Given the description of an element on the screen output the (x, y) to click on. 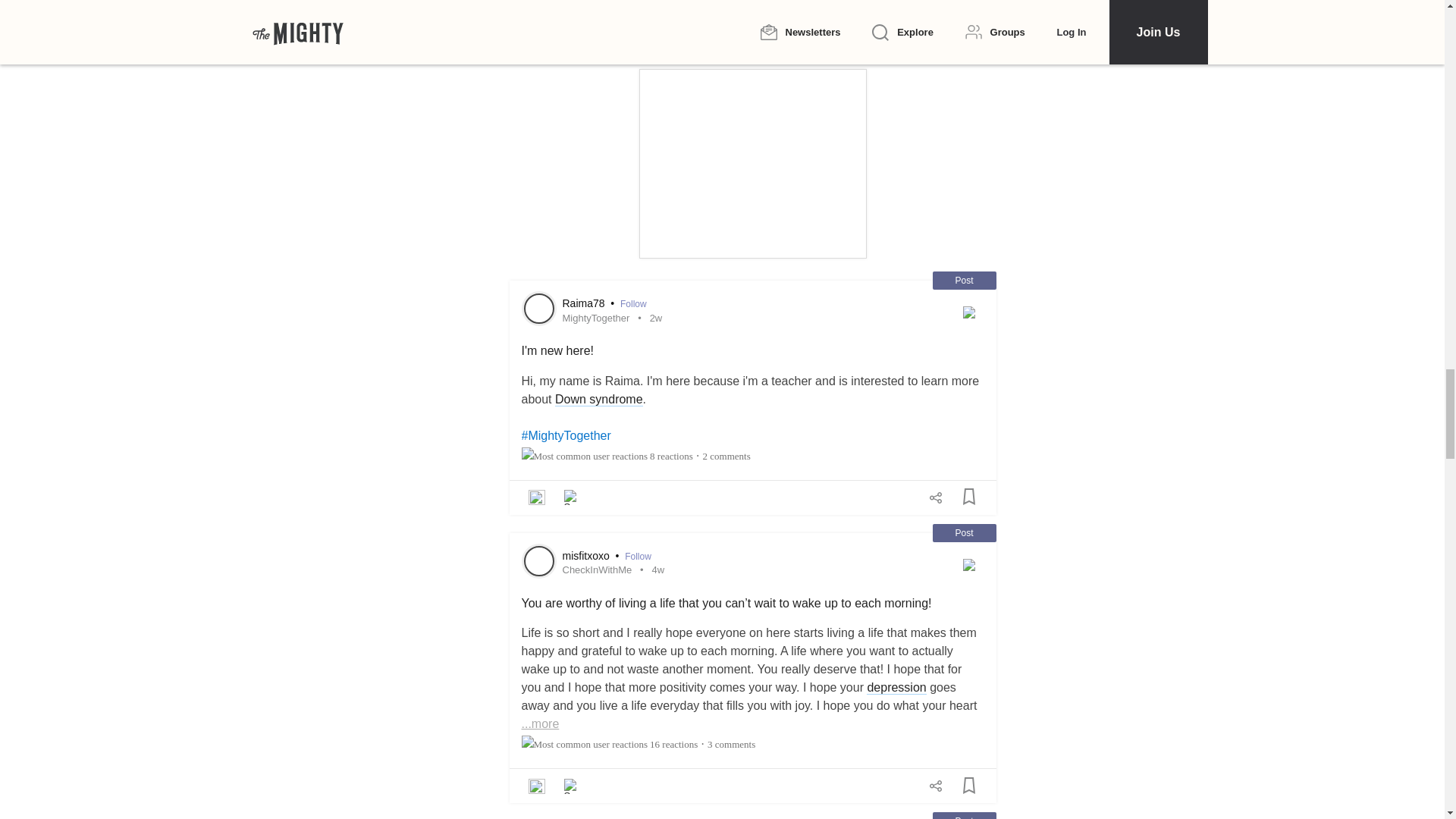
August 19, 2024 (655, 317)
Down syndrome (598, 399)
Visit Raima78's profile (537, 308)
